Given the description of an element on the screen output the (x, y) to click on. 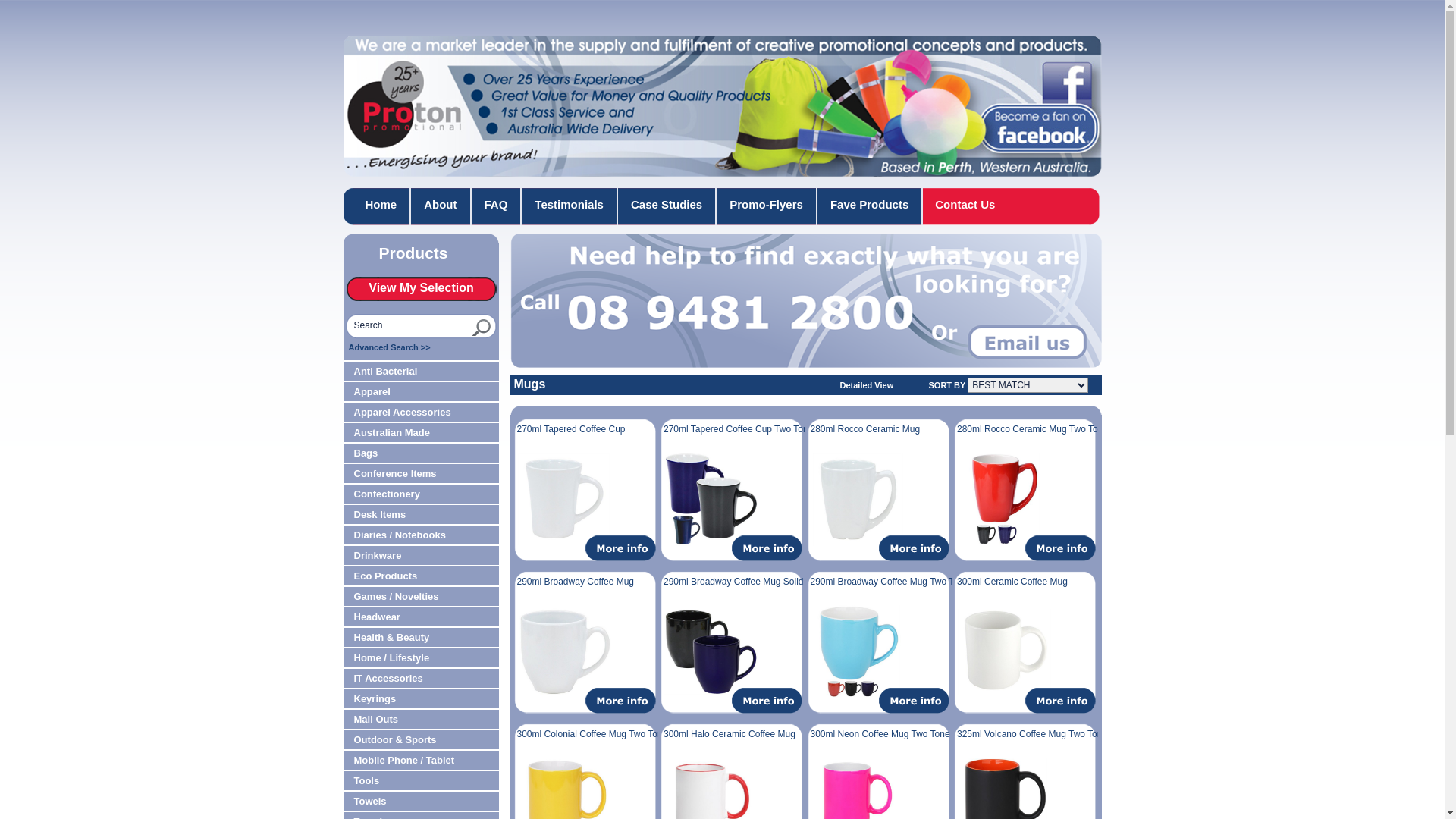
Promo-Flyers Element type: text (766, 206)
       Element type: text (1061, 548)
FAQ Element type: text (496, 206)
Testimonials Element type: text (569, 206)
Case Studies Element type: text (667, 206)
       Element type: text (914, 700)
       Element type: text (1061, 700)
Contact Us Element type: text (964, 206)
290ml Broadway Coffee Mug Solid Colours Element type: text (750, 581)
       Element type: text (914, 548)
290ml Broadway Coffee Mug Two Tone Element type: text (888, 581)
270ml Tapered Coffee Cup (M20W_GLOBAL) Element type: hover (563, 499)
Home Element type: text (381, 206)
300ml Colonial Coffee Mug Two Tone Element type: text (592, 733)
Search Element type: text (404, 325)
Detailed View Element type: text (884, 384)
325ml Volcano Coffee Mug Two Tone Element type: text (1032, 733)
       Element type: text (621, 548)
  Element type: text (472, 327)
290ml Broadway Coffee Mug Solid Colours (M05_GLOBAL) Element type: hover (710, 651)
290ml Broadway Coffee Mug Two Tone (M05TT_GLOBAL) Element type: hover (857, 651)
280ml Rocco Ceramic Mug (M25W_GLOBAL) Element type: hover (857, 499)
Advanced Search >> Element type: text (389, 346)
About Element type: text (440, 206)
300ml Neon Coffee Mug Two Tone Element type: text (879, 733)
       Element type: text (767, 548)
300ml Halo Ceramic Coffee Mug Element type: text (729, 733)
       Element type: text (621, 700)
300ml Ceramic Coffee Mug Element type: text (1012, 581)
       Element type: text (767, 700)
290ml Broadway Coffee Mug Element type: text (575, 581)
280ml Rocco Ceramic Mug Element type: text (864, 428)
280ml Rocco Ceramic Mug Two Tone Element type: text (1032, 428)
280ml Rocco Ceramic Mug Two Tone (M25TT_GLOBAL) Element type: hover (1004, 499)
270ml Tapered Coffee Cup Two Tone (M20TT_GLOBAL) Element type: hover (710, 499)
290ml Broadway Coffee Mug (M05W_GLOBAL) Element type: hover (563, 651)
270ml Tapered Coffee Cup Two Tone Element type: text (737, 428)
270ml Tapered Coffee Cup Element type: text (571, 428)
View My Selection Element type: text (420, 288)
300ml Ceramic Coffee Mug (M01W_GLOBAL) Element type: hover (1004, 651)
Fave Products Element type: text (869, 206)
